Given the description of an element on the screen output the (x, y) to click on. 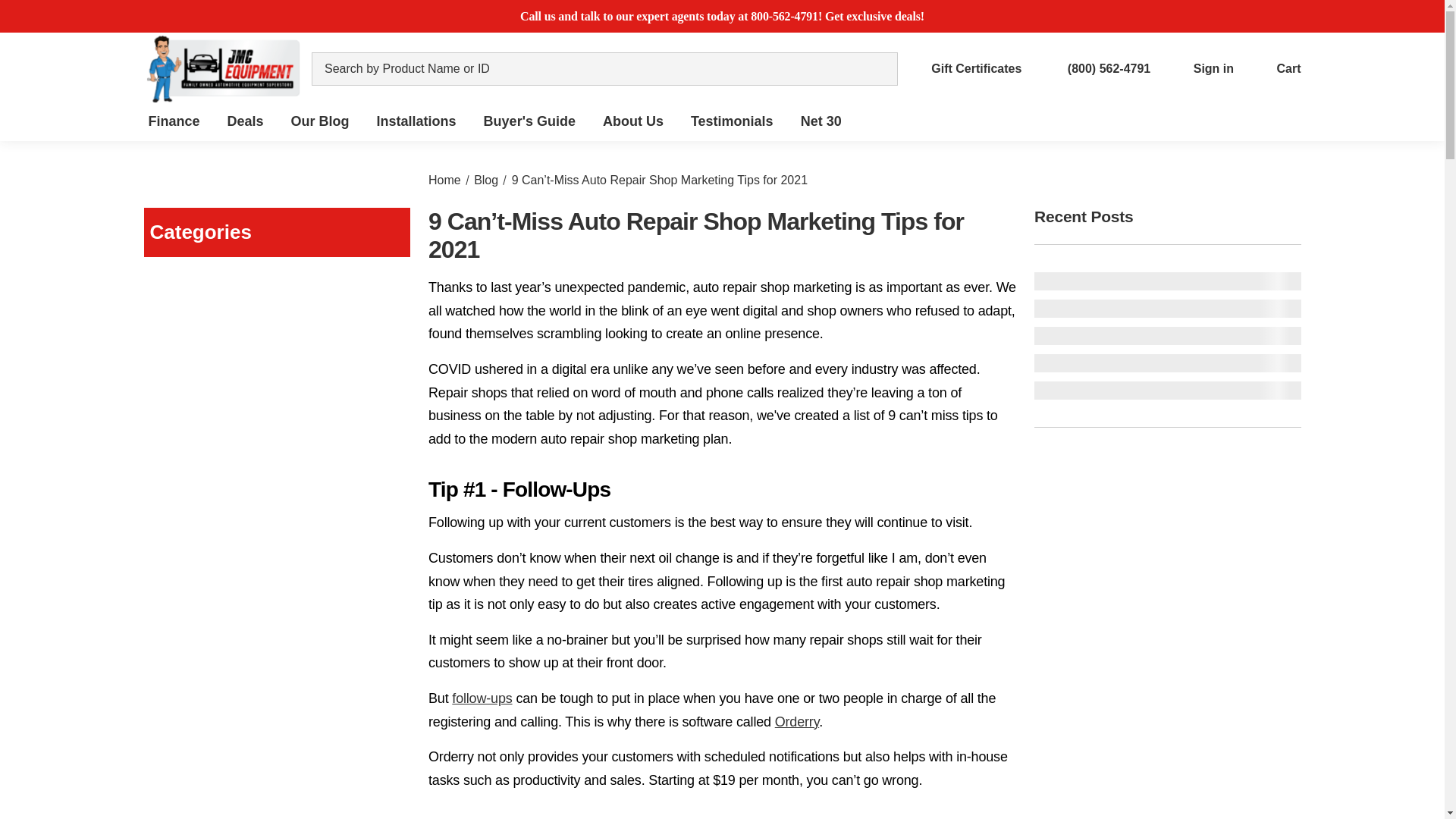
JMC Automotive Equipment  (223, 69)
Gift Certificates (964, 68)
Cart (1275, 68)
Sign in (1200, 68)
